Given the description of an element on the screen output the (x, y) to click on. 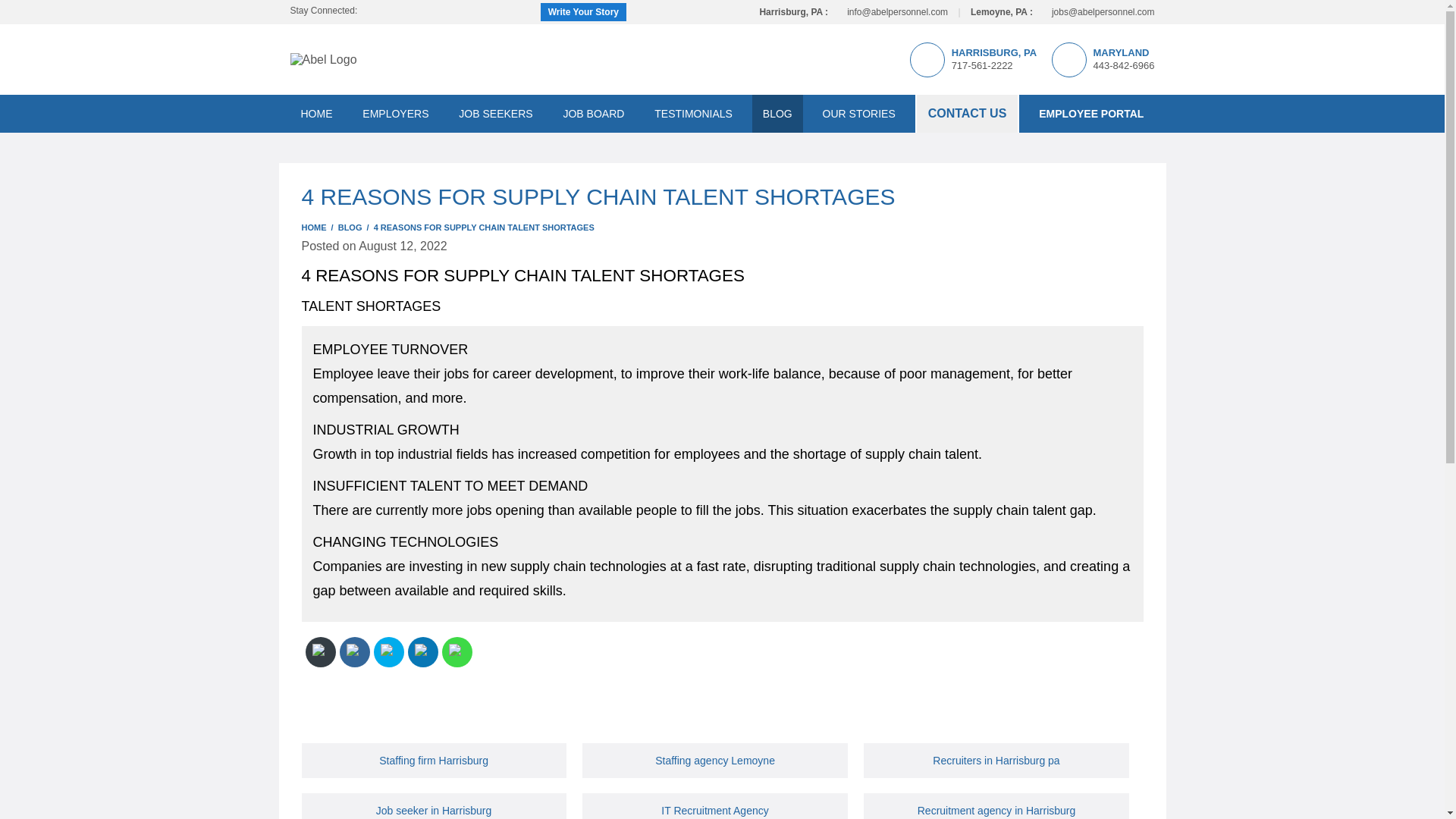
Job seeker in Harrisburg (433, 810)
linkedin (393, 11)
HOME (315, 113)
443-842-6966 (1123, 65)
Write Your Story (583, 12)
IT Recruitment Agency (714, 810)
Recruitment agency in Harrisburg (996, 810)
717-561-2222 (982, 65)
Staffing firm Harrisburg (432, 760)
facebook (372, 11)
